Given the description of an element on the screen output the (x, y) to click on. 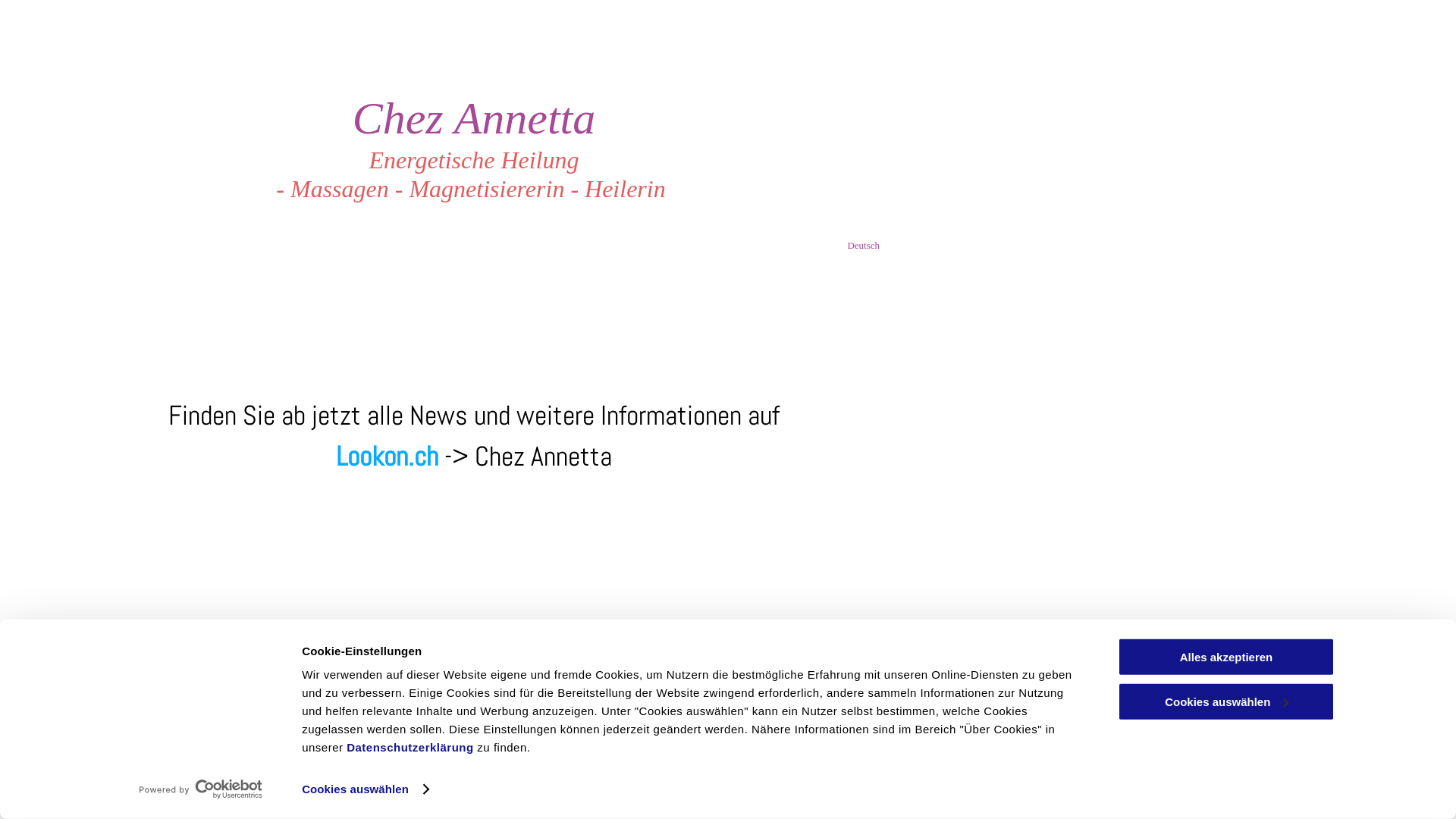
Alles akzeptieren Element type: text (1225, 656)
Lookon.ch Element type: text (386, 456)
Chez Annetta Element type: text (474, 118)
Chez Annetta Element type: text (542, 456)
Deutsch Element type: text (872, 246)
